Given the description of an element on the screen output the (x, y) to click on. 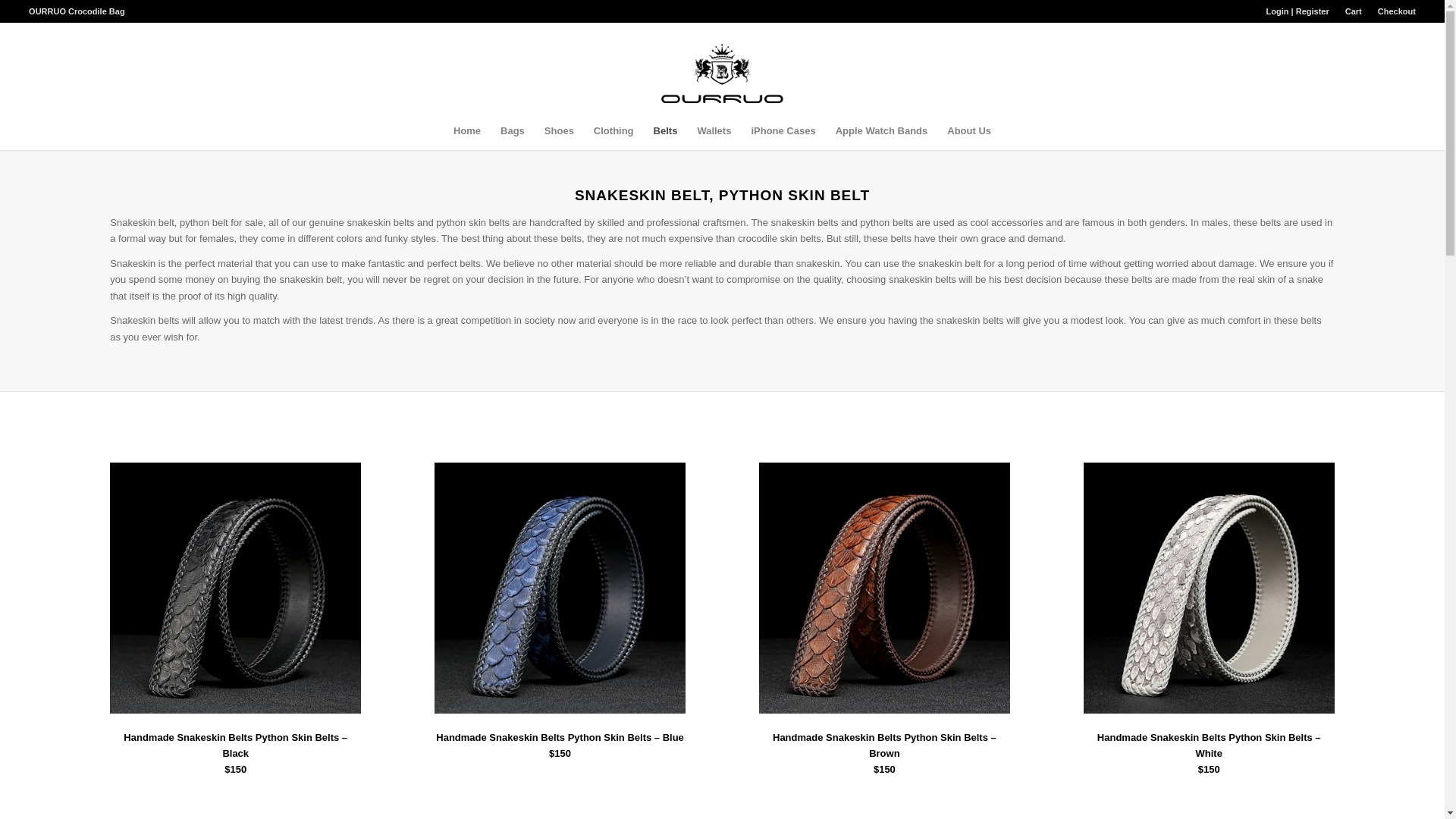
Home (467, 130)
Checkout (1396, 11)
Crocodile Bag (96, 10)
Handmade Snakeskin Belts Python Skin Belts-White (1209, 588)
Shoes (558, 130)
Handmade Snakeskin Belts Python Skin Belts-Black (235, 588)
Clothing (613, 130)
Handmade Snakeskin Belts Python Skin Belts-Brown (884, 588)
Wallets (714, 130)
iPhone Cases (783, 130)
Handmade Snakeskin Belts Python Skin Belts-Blue (559, 588)
Bags (512, 130)
Belts (665, 130)
